Given the description of an element on the screen output the (x, y) to click on. 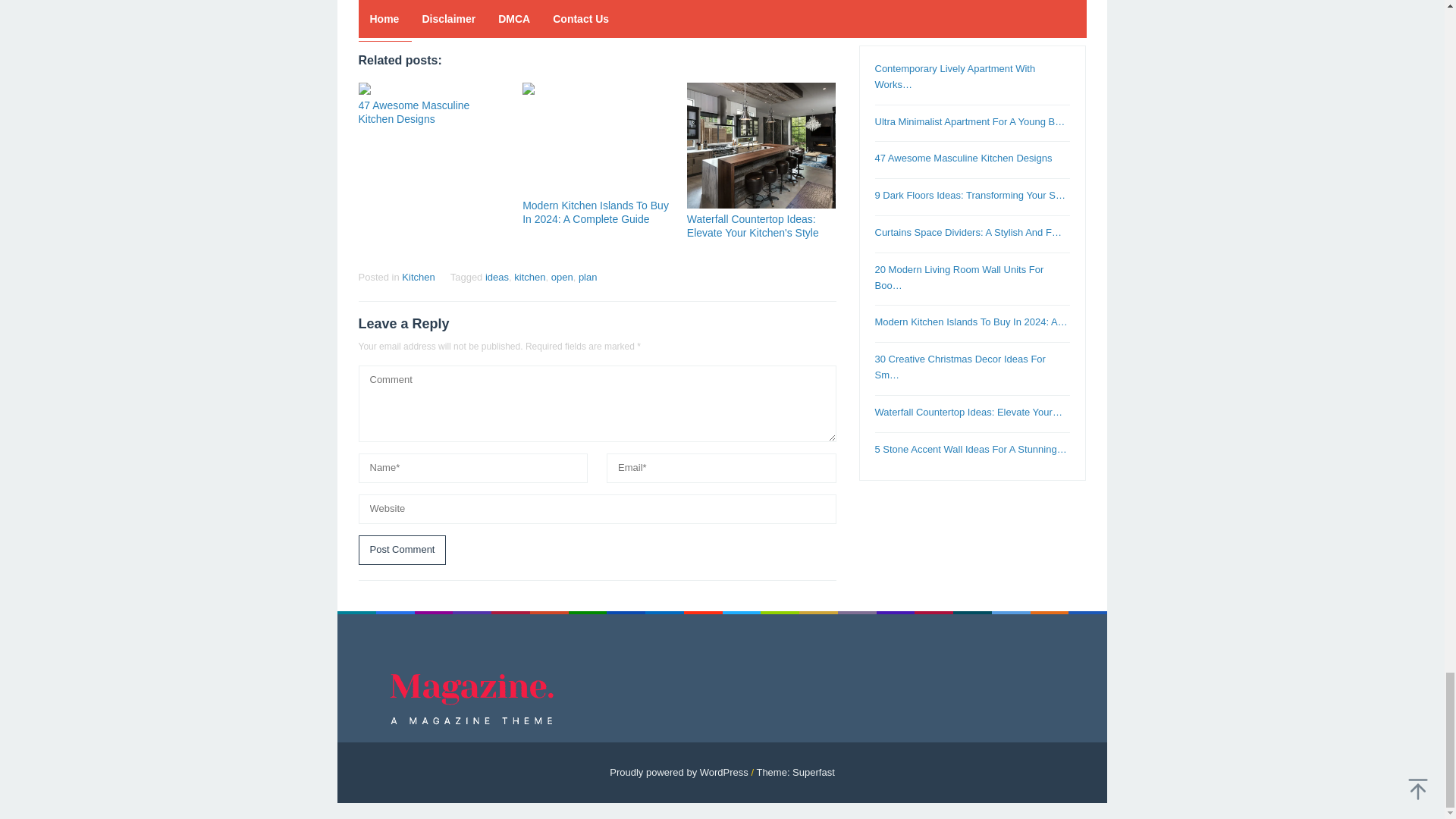
Permalink to: 47 Awesome Masculine Kitchen Designs (432, 88)
47 Awesome Masculine Kitchen Designs (413, 112)
Share this (369, 14)
Telegram Share (449, 14)
Post Comment (401, 550)
Modern Kitchen Islands To Buy In 2024: A Complete Guide (595, 212)
ideas (496, 276)
Post Comment (401, 550)
kitchen (528, 276)
Pin this (421, 14)
Tweet this (396, 14)
